Given the description of an element on the screen output the (x, y) to click on. 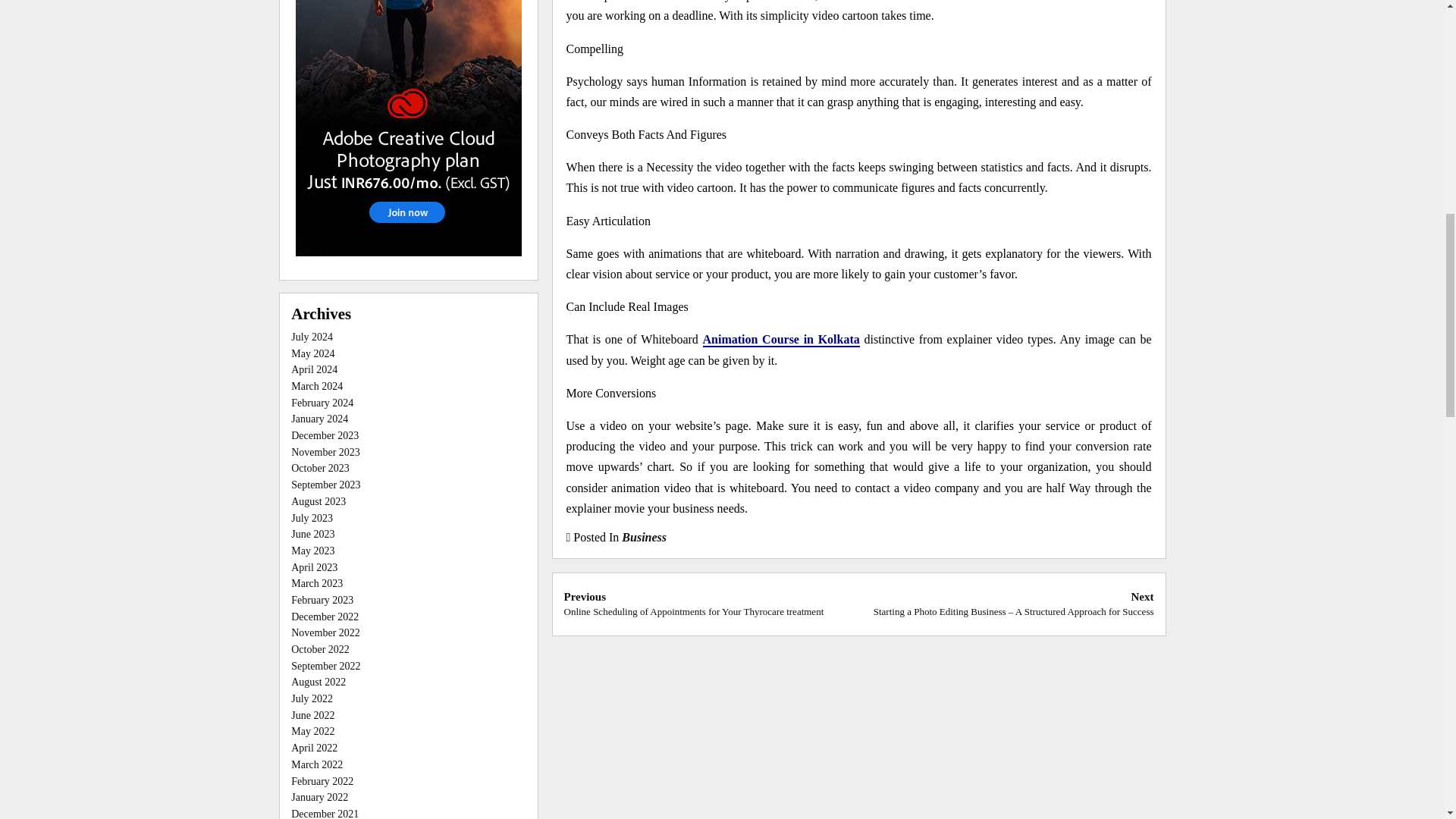
May 2023 (312, 550)
Animation Course in Kolkata (781, 339)
February 2023 (322, 600)
July 2023 (312, 518)
May 2024 (312, 353)
August 2023 (318, 501)
March 2024 (316, 386)
Business (643, 536)
February 2024 (322, 402)
January 2024 (319, 419)
April 2024 (314, 369)
April 2023 (314, 567)
October 2022 (320, 649)
November 2022 (325, 632)
September 2023 (325, 484)
